Given the description of an element on the screen output the (x, y) to click on. 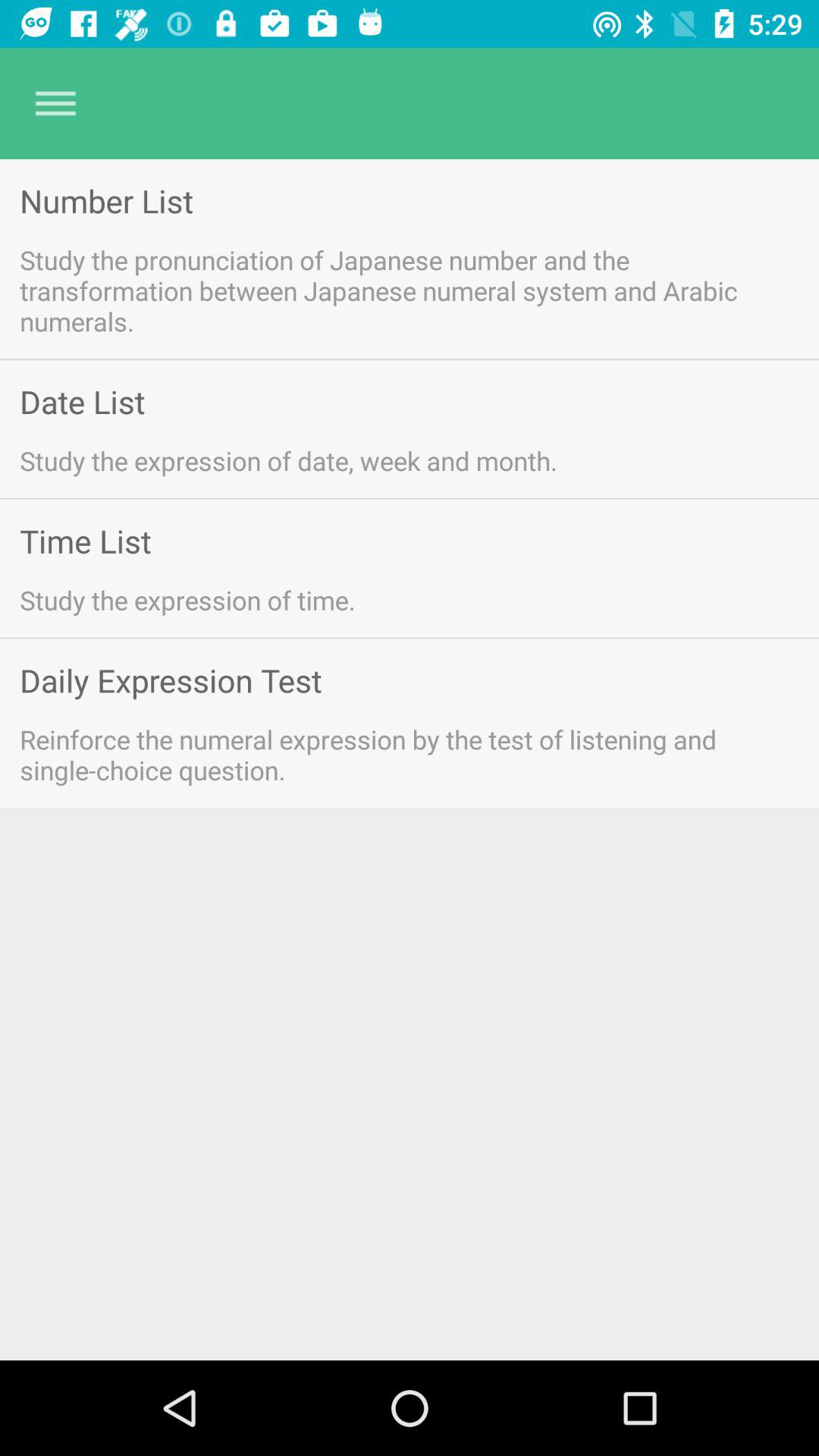
launch reinforce the numeral (389, 754)
